Given the description of an element on the screen output the (x, y) to click on. 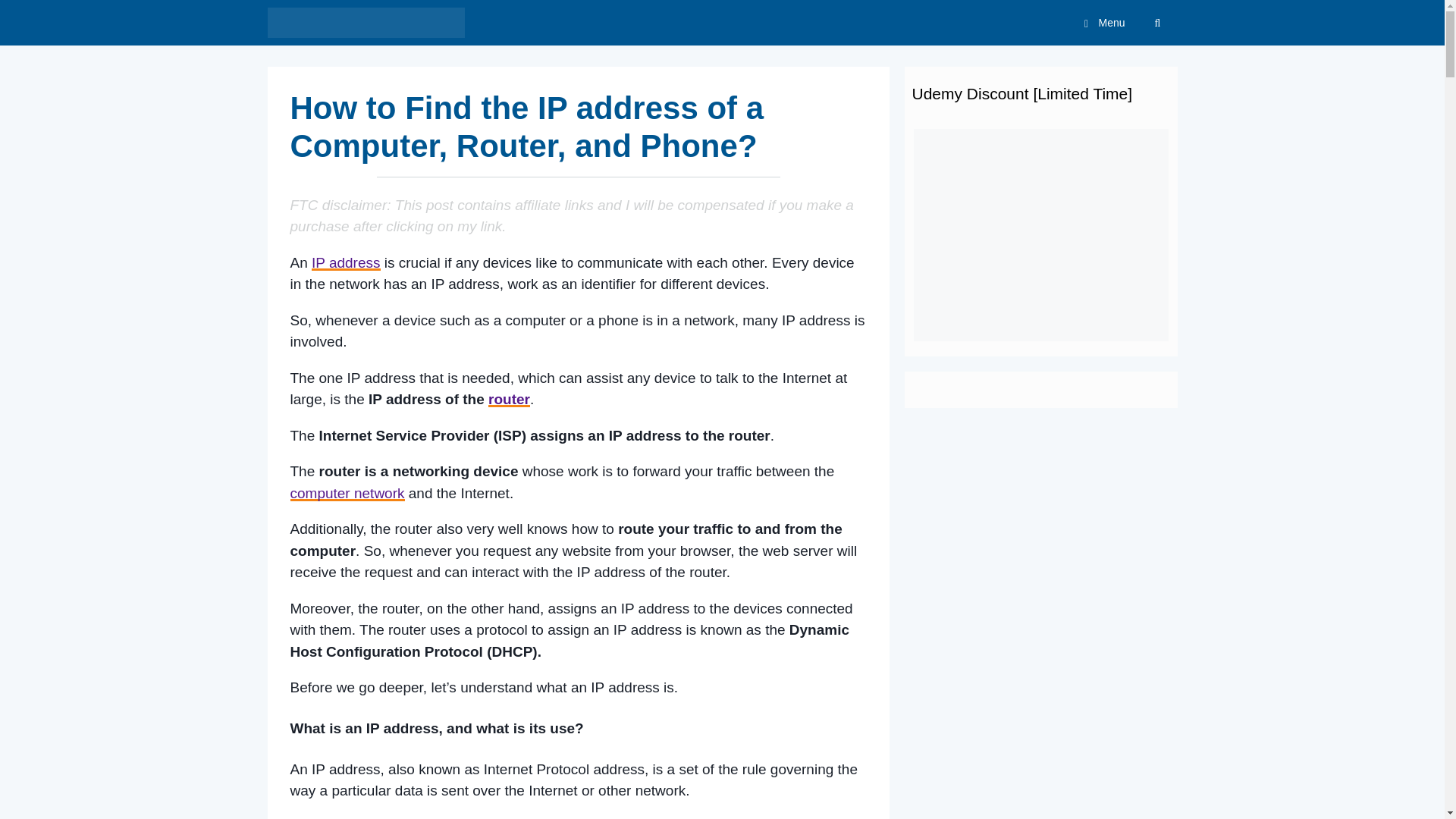
IP address (345, 262)
router (508, 399)
Menu (1101, 22)
computer network (346, 493)
Digital Media Globe (365, 22)
Digital Media Globe (368, 22)
